Given the description of an element on the screen output the (x, y) to click on. 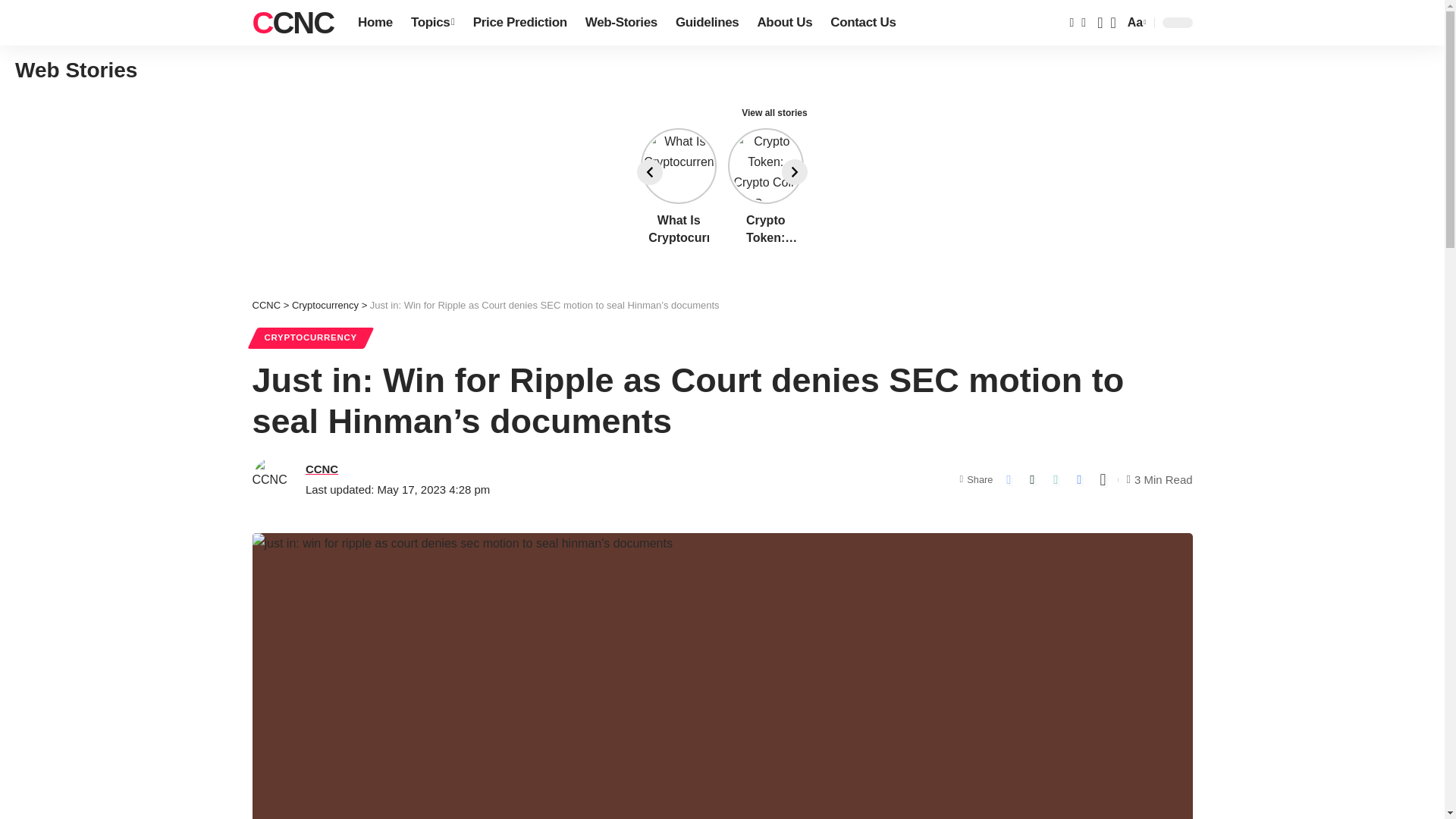
CCNC (292, 22)
Guidelines (707, 22)
Home (375, 22)
Web-Stories (621, 22)
Contact Us (862, 22)
Topics (432, 22)
Go to CCNC. (266, 305)
Go to the Cryptocurrency Category archives. (1135, 22)
